Given the description of an element on the screen output the (x, y) to click on. 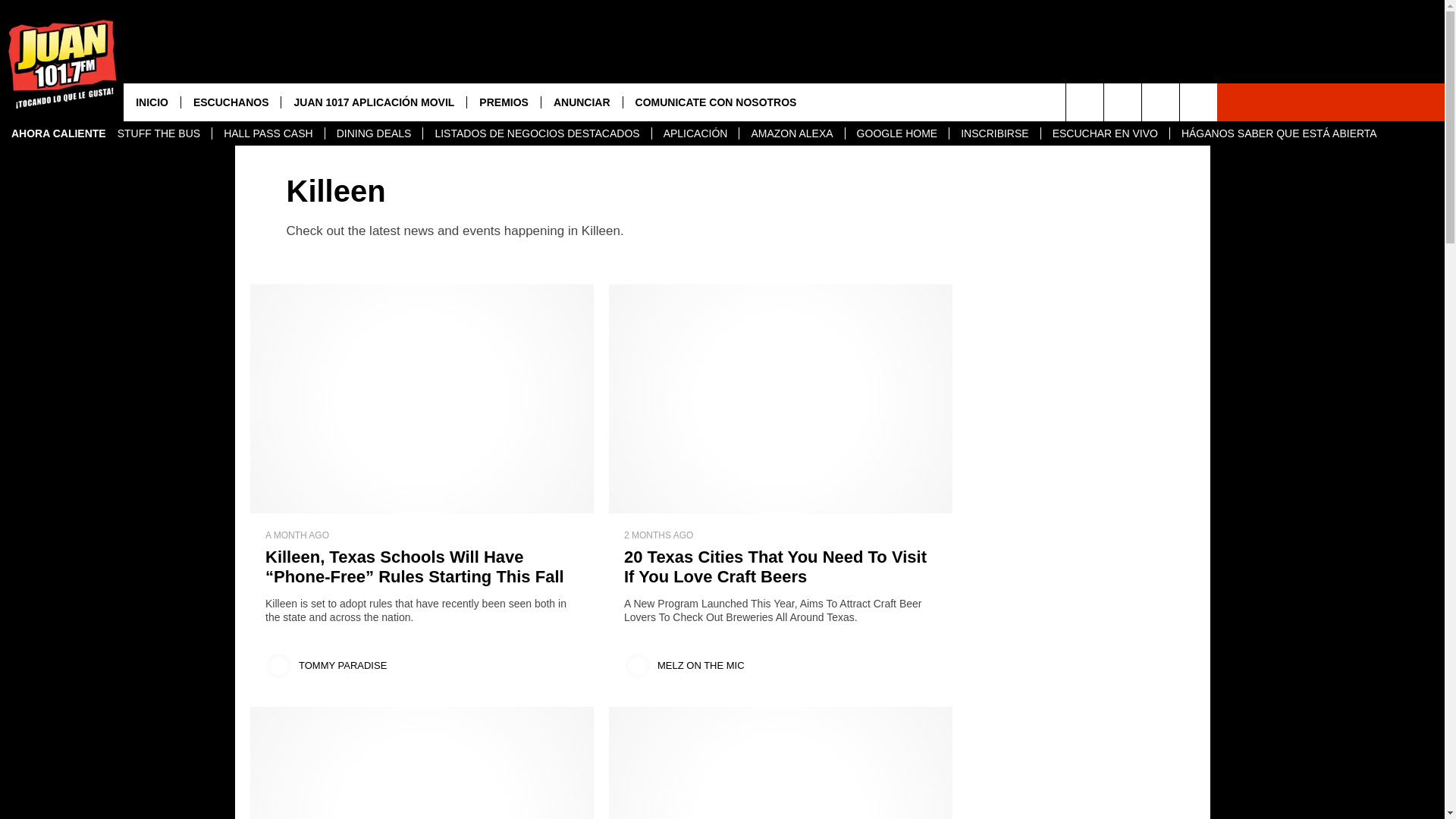
STUFF THE BUS (158, 133)
PREMIOS (502, 102)
ANUNCIAR (581, 102)
ESCUCHANOS (230, 102)
AMAZON ALEXA (791, 133)
INSCRIBIRSE (994, 133)
LISTADOS DE NEGOCIOS DESTACADOS (536, 133)
ESCUCHAR EN VIVO (1105, 133)
COMUNICATE CON NOSOTROS (716, 102)
HALL PASS CASH (267, 133)
DINING DEALS (373, 133)
GOOGLE HOME (896, 133)
INICIO (151, 102)
